Given the description of an element on the screen output the (x, y) to click on. 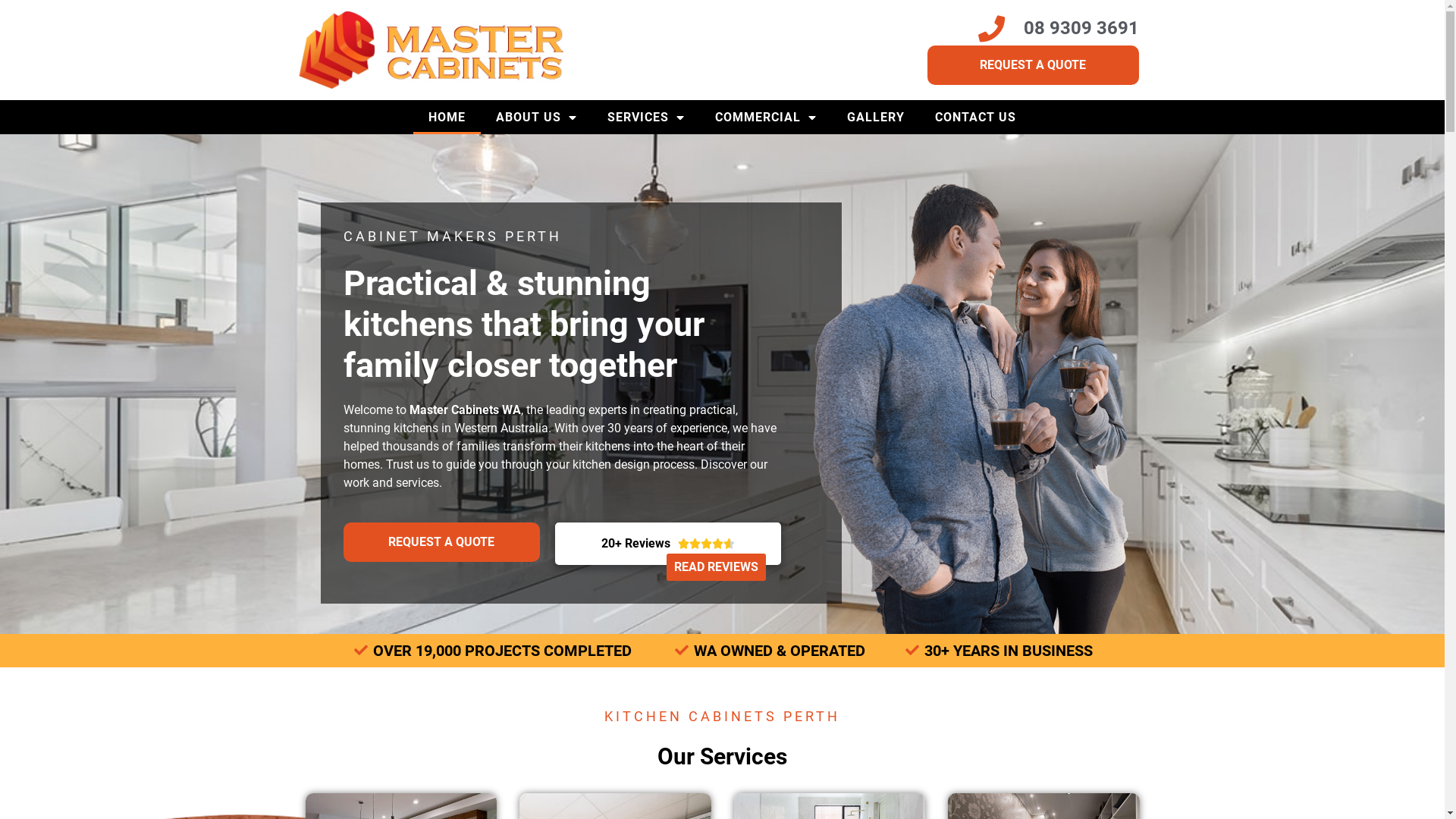
ABOUT US Element type: text (536, 117)
HOME Element type: text (446, 117)
COMMERCIAL Element type: text (765, 117)
GALLERY Element type: text (875, 117)
REQUEST A QUOTE Element type: text (440, 541)
08 9309 3691 Element type: text (1033, 28)
READ REVIEWS Element type: text (715, 566)
CONTACT US Element type: text (975, 117)
SERVICES Element type: text (645, 117)
REQUEST A QUOTE Element type: text (1033, 64)
